Given the description of an element on the screen output the (x, y) to click on. 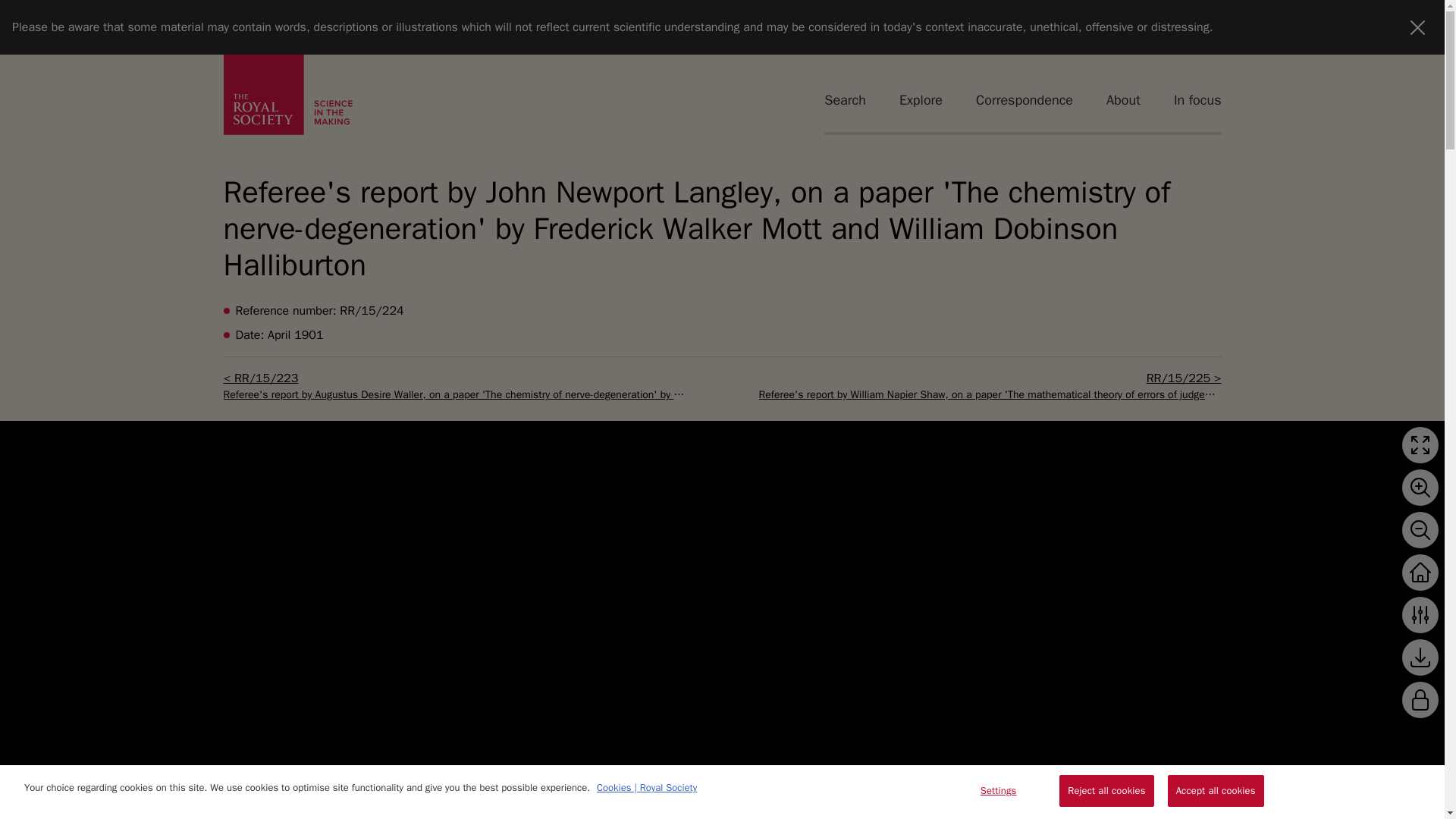
Image options (1420, 615)
In focus (1197, 99)
Toggle full screen (1420, 444)
About (1123, 99)
Search (845, 99)
Correspondence (1024, 99)
Image options (1420, 615)
PDF download (1420, 657)
Reset image zoom and position (1420, 572)
Zoom out (1420, 529)
